Given the description of an element on the screen output the (x, y) to click on. 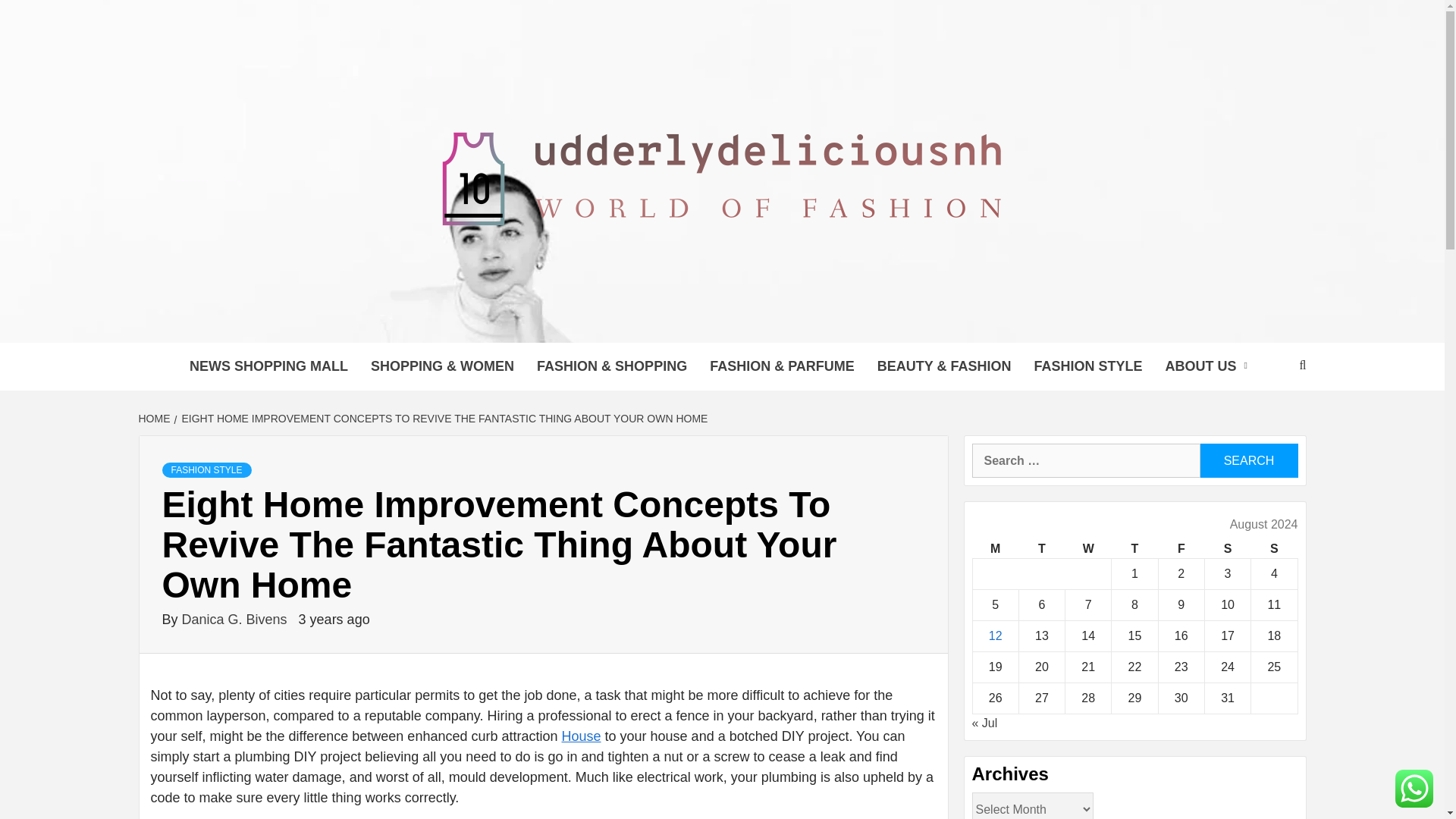
Tuesday (1040, 548)
Friday (1180, 548)
Search (1248, 460)
Sunday (1273, 548)
Danica G. Bivens (236, 619)
House (581, 735)
Thursday (1134, 548)
HOME (155, 418)
Saturday (1227, 548)
